Given the description of an element on the screen output the (x, y) to click on. 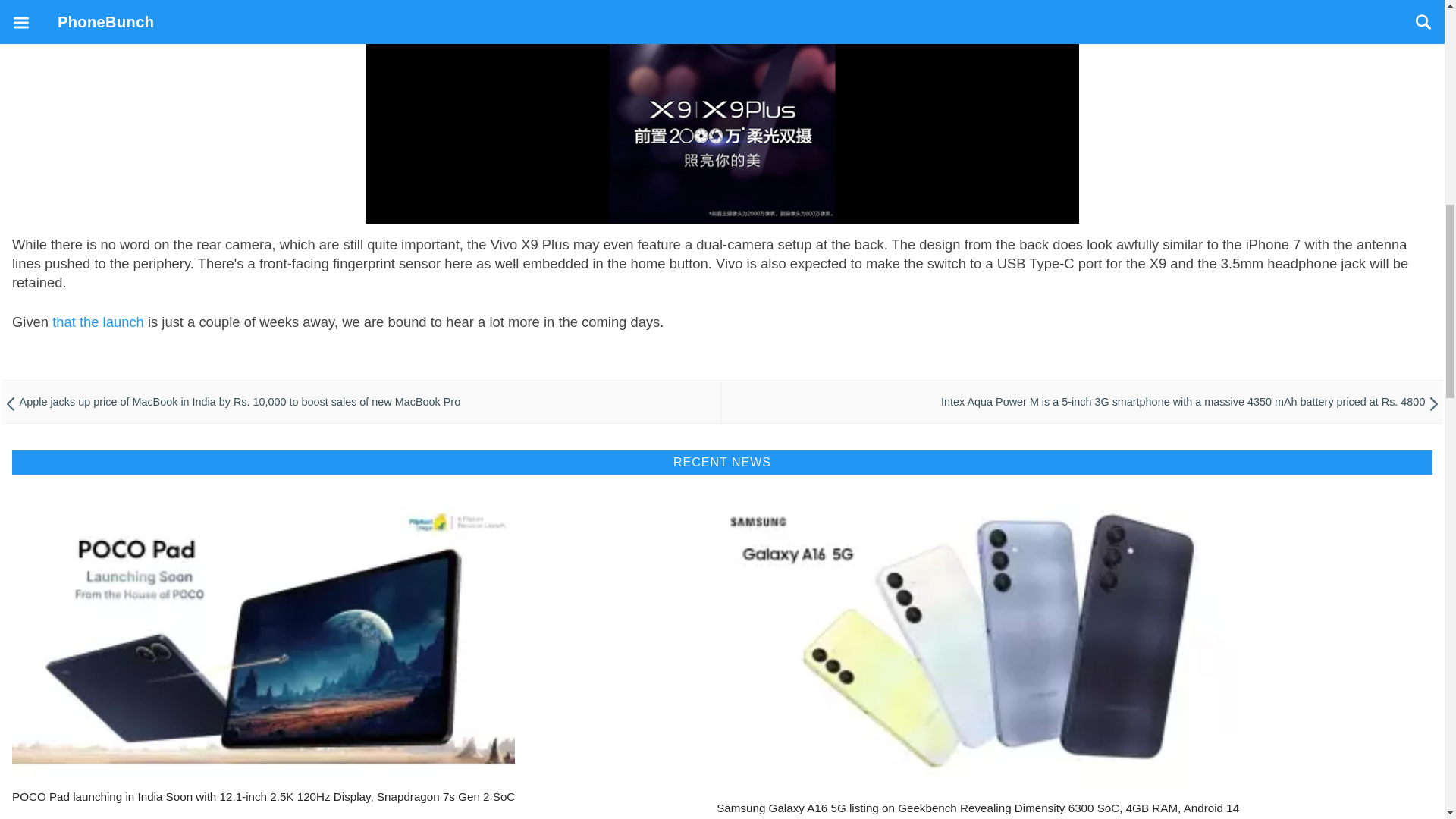
Vivo X9 expected to launch on November 17 (98, 321)
that the launch (98, 321)
